Given the description of an element on the screen output the (x, y) to click on. 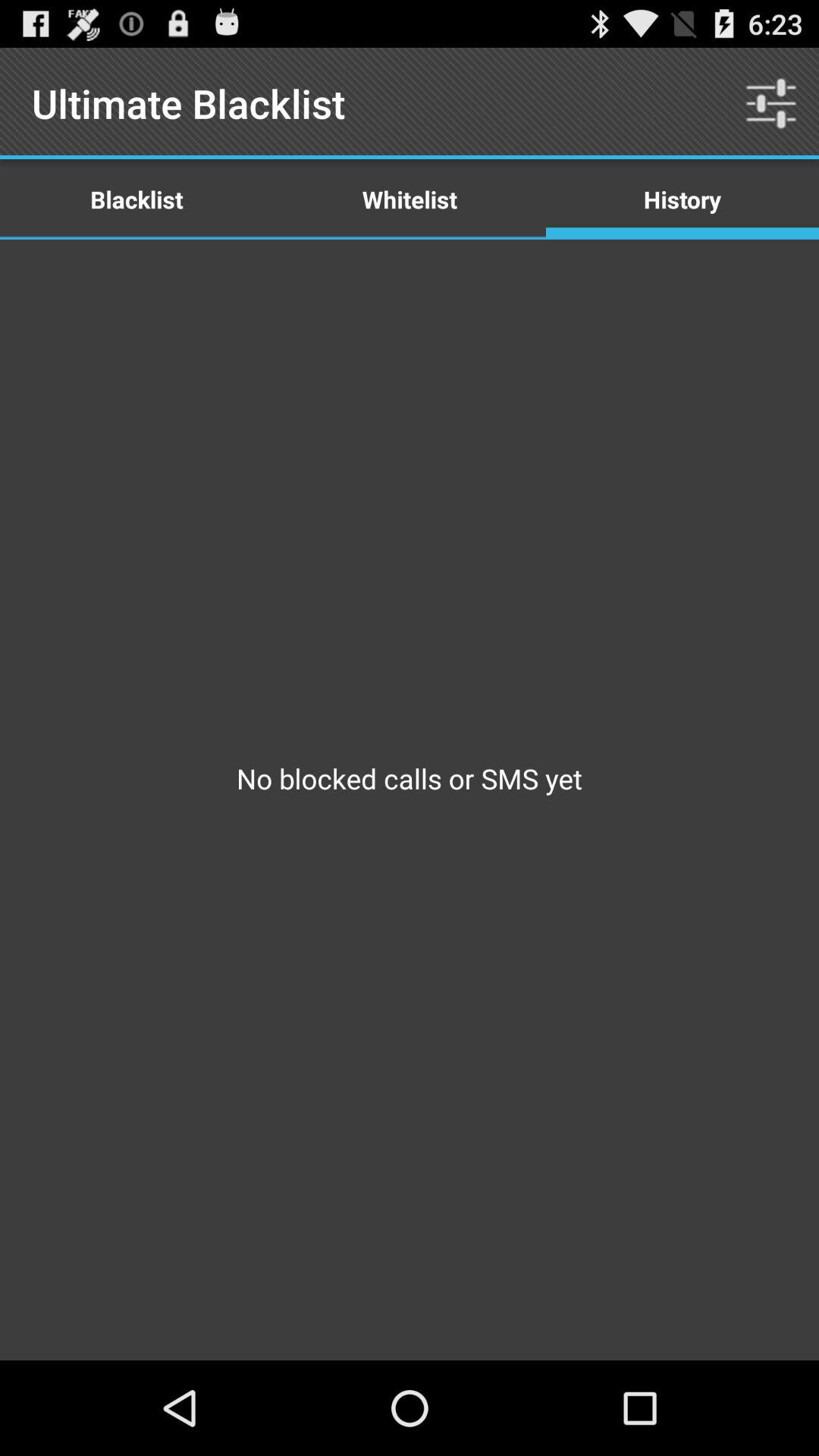
open whitelist at the top (409, 199)
